Given the description of an element on the screen output the (x, y) to click on. 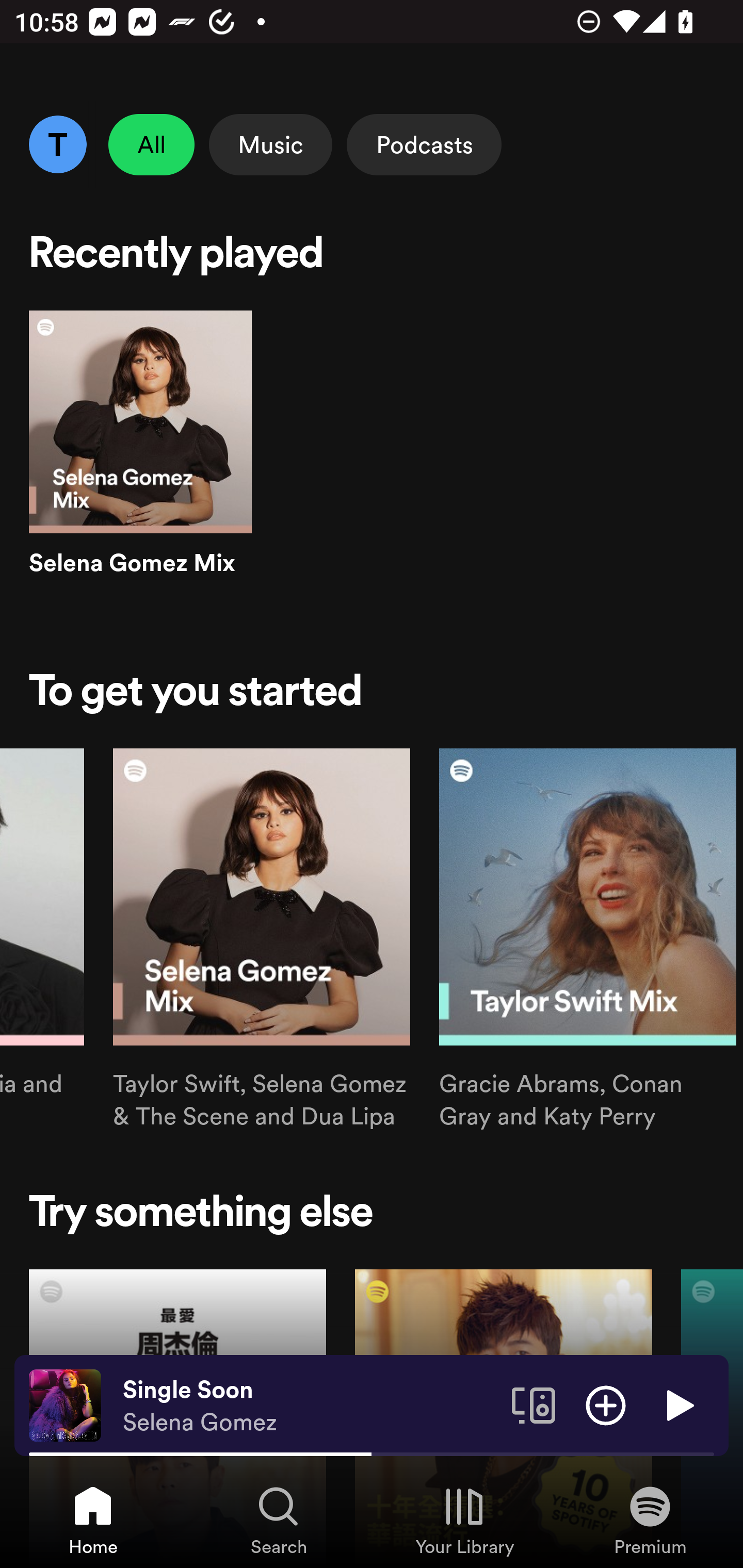
Profile (57, 144)
All Unselect All (151, 144)
Music Select Music (270, 144)
Podcasts Select Podcasts (423, 144)
Selena Gomez Mix (139, 460)
Single Soon Selena Gomez (309, 1405)
The cover art of the currently playing track (64, 1404)
Connect to a device. Opens the devices menu (533, 1404)
Add item (605, 1404)
Play (677, 1404)
Home, Tab 1 of 4 Home Home (92, 1519)
Search, Tab 2 of 4 Search Search (278, 1519)
Your Library, Tab 3 of 4 Your Library Your Library (464, 1519)
Premium, Tab 4 of 4 Premium Premium (650, 1519)
